Given the description of an element on the screen output the (x, y) to click on. 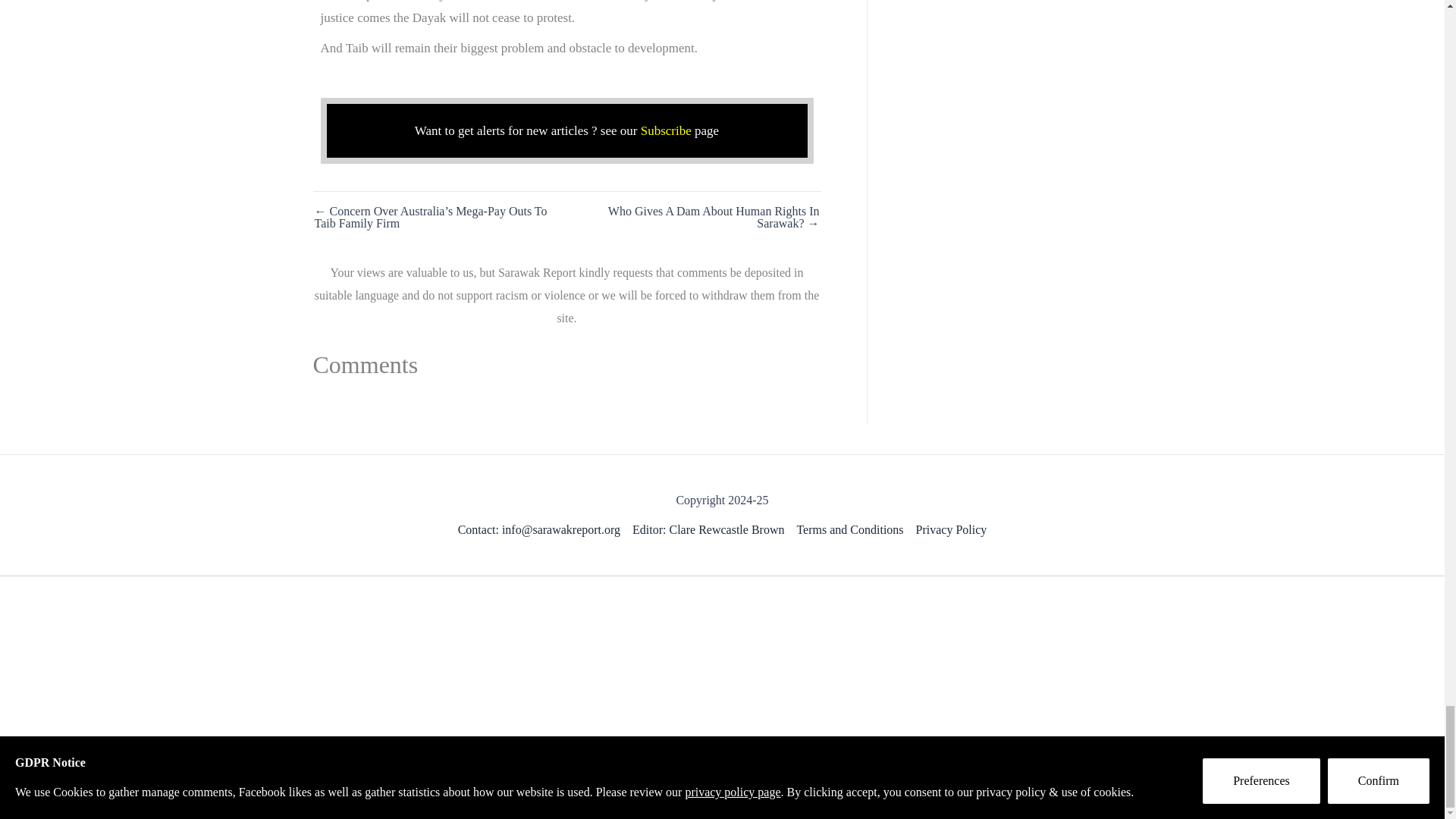
Who Gives A Dam About Human Rights In Sarawak? (694, 217)
Concern Over Australia's Mega-Pay Outs To Taib Family Firm (439, 217)
